Given the description of an element on the screen output the (x, y) to click on. 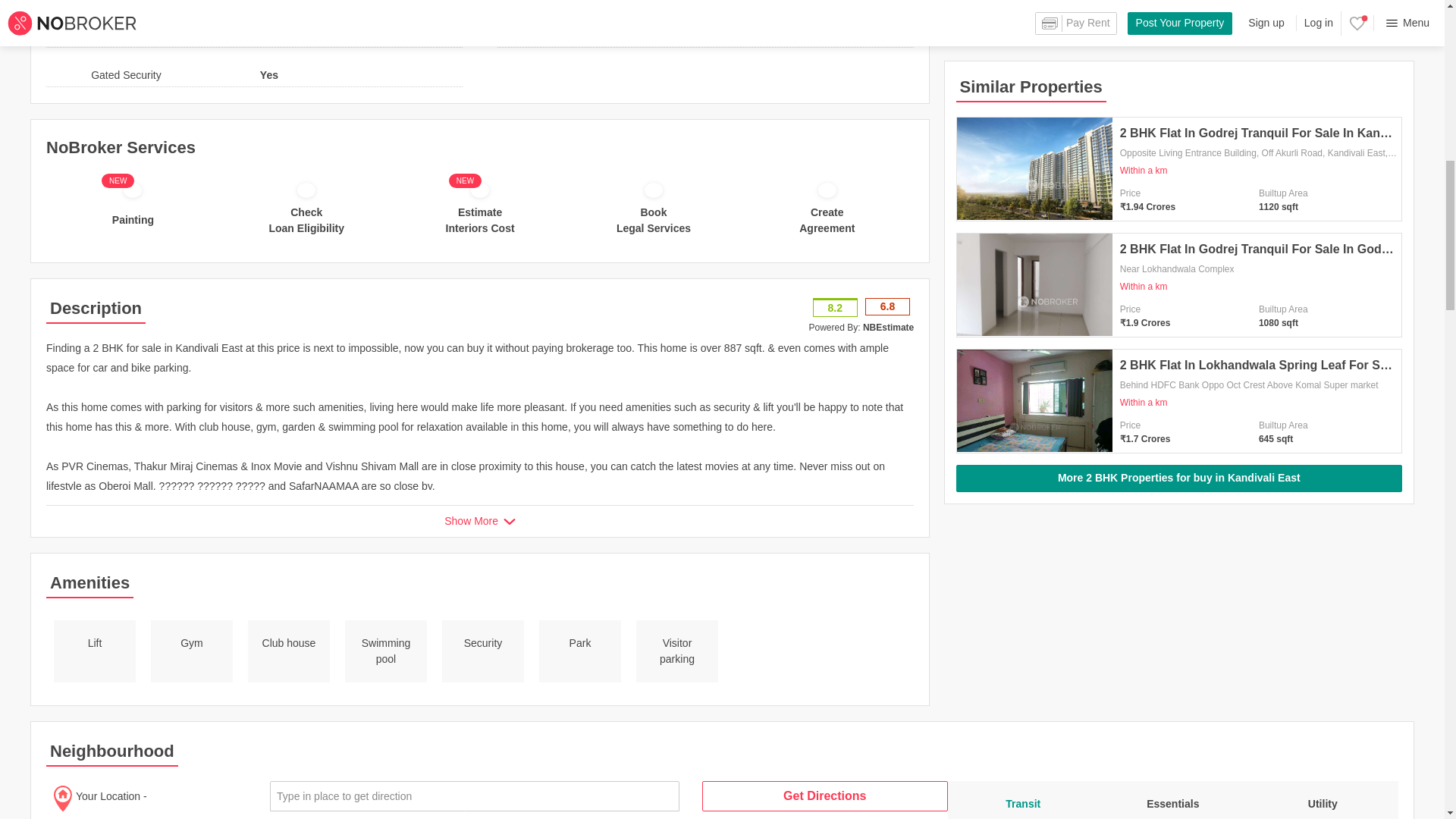
Furnish Now (324, 2)
More 2 BHK Properties for buy in Kandivali East (1178, 357)
Get Directions (824, 796)
